Given the description of an element on the screen output the (x, y) to click on. 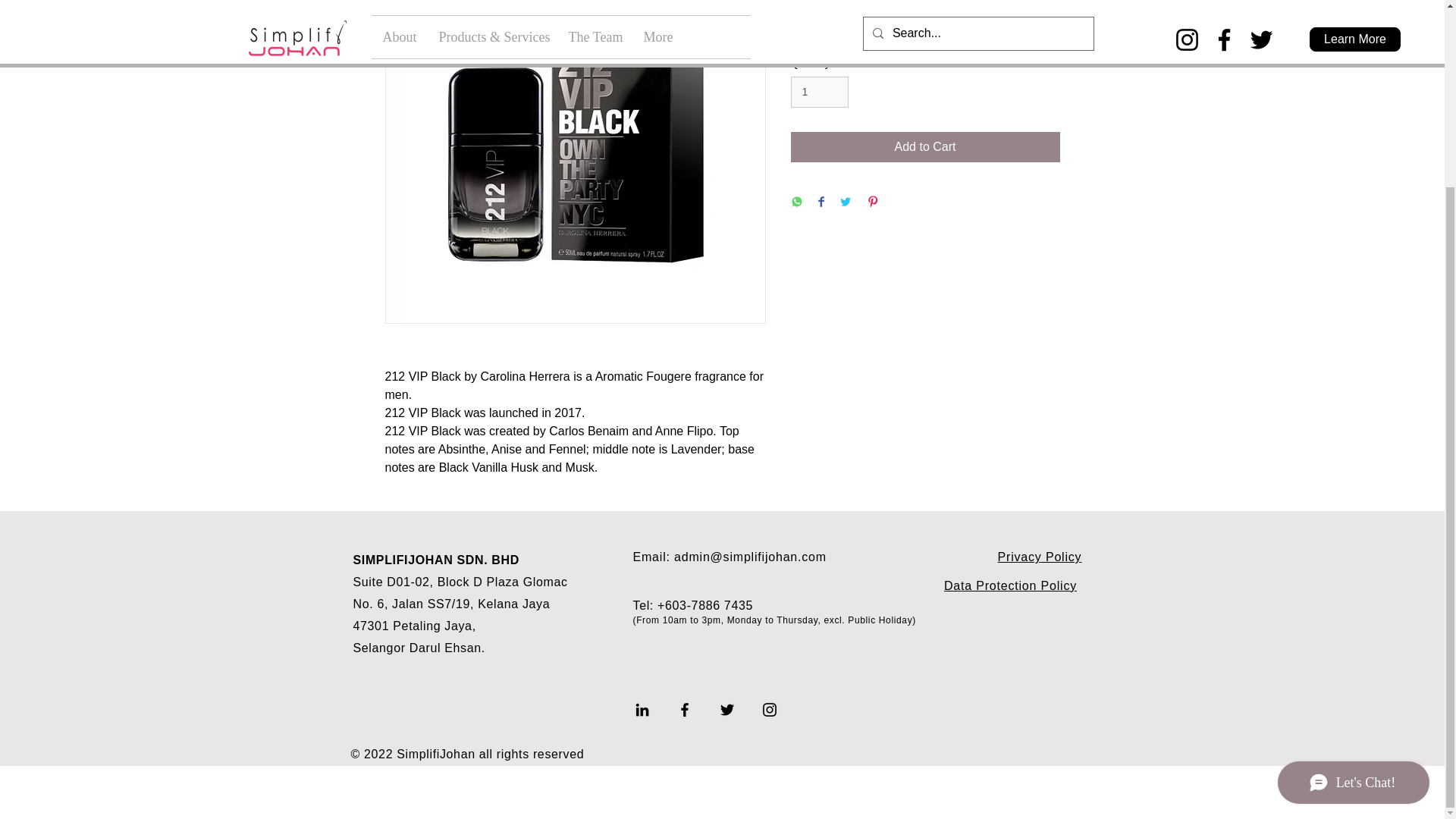
Data Protection Policy (1010, 585)
Free Shipping (828, 33)
Privacy Policy (1039, 556)
1 (818, 91)
Add to Cart (924, 146)
